Given the description of an element on the screen output the (x, y) to click on. 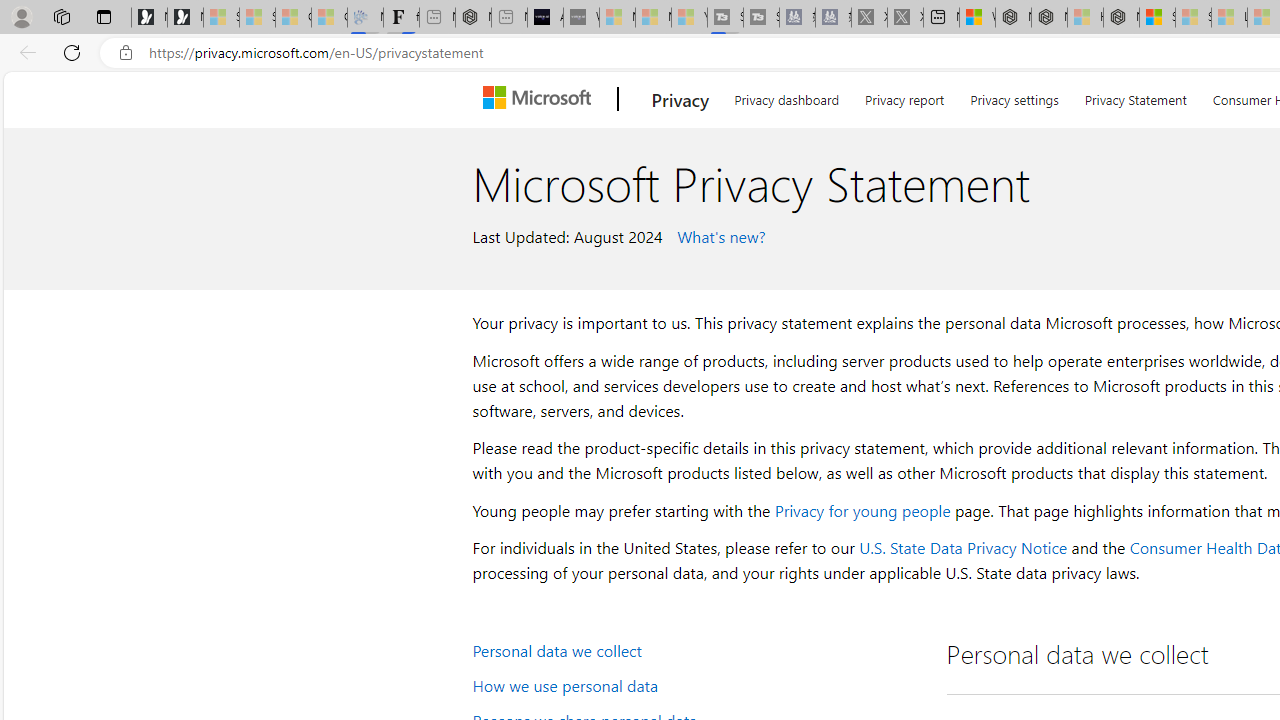
Privacy report (904, 96)
Privacy dashboard (786, 96)
X - Sleeping (905, 17)
How we use personal data (696, 684)
Privacy settings (1014, 96)
What's the best AI voice generator? - voice.ai - Sleeping (581, 17)
Nordace - #1 Japanese Best-Seller - Siena Smart Backpack (473, 17)
Privacy dashboard (786, 96)
Privacy Statement (1135, 96)
Privacy report (904, 96)
